Given the description of an element on the screen output the (x, y) to click on. 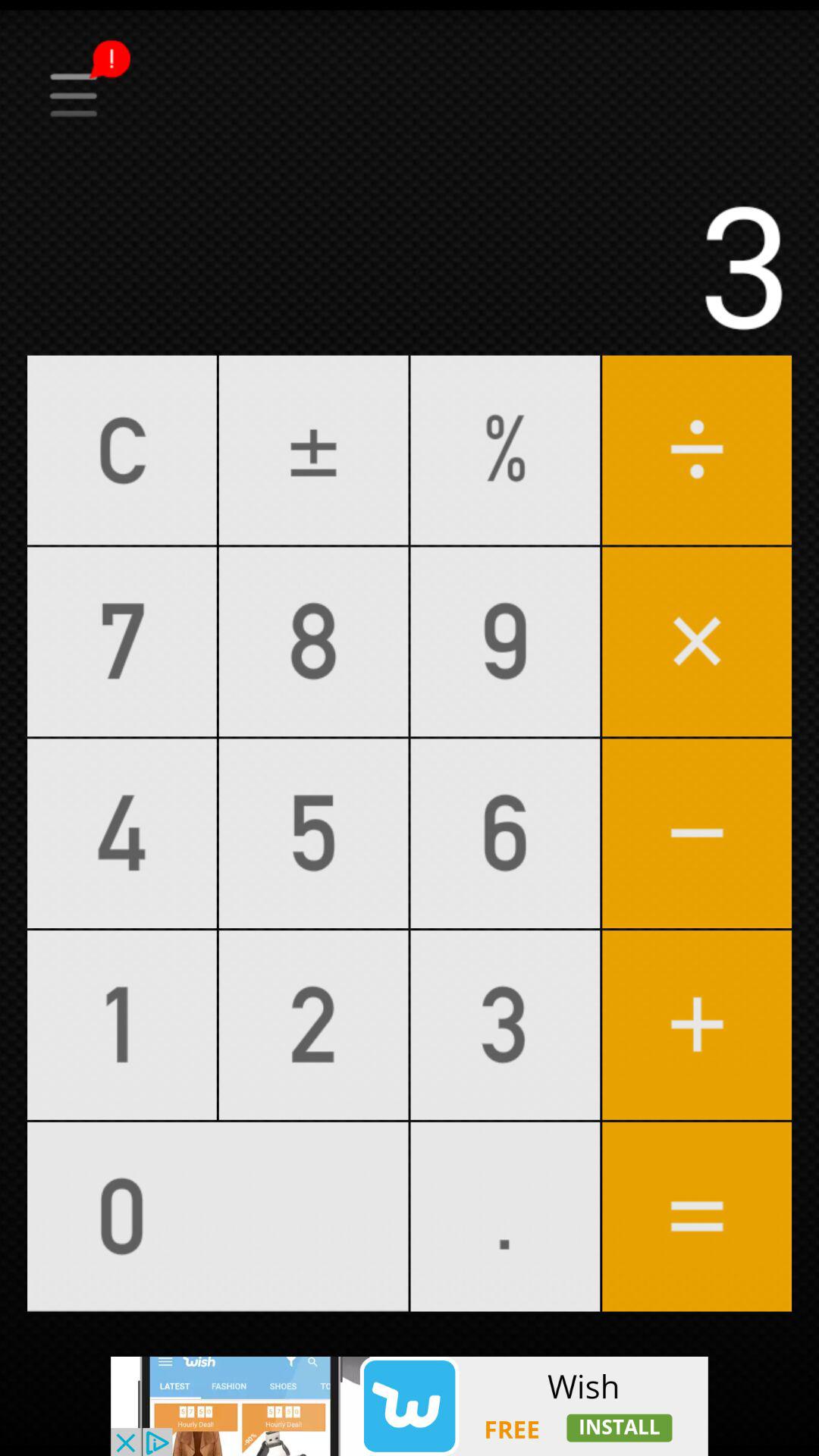
na (409, 47)
